Given the description of an element on the screen output the (x, y) to click on. 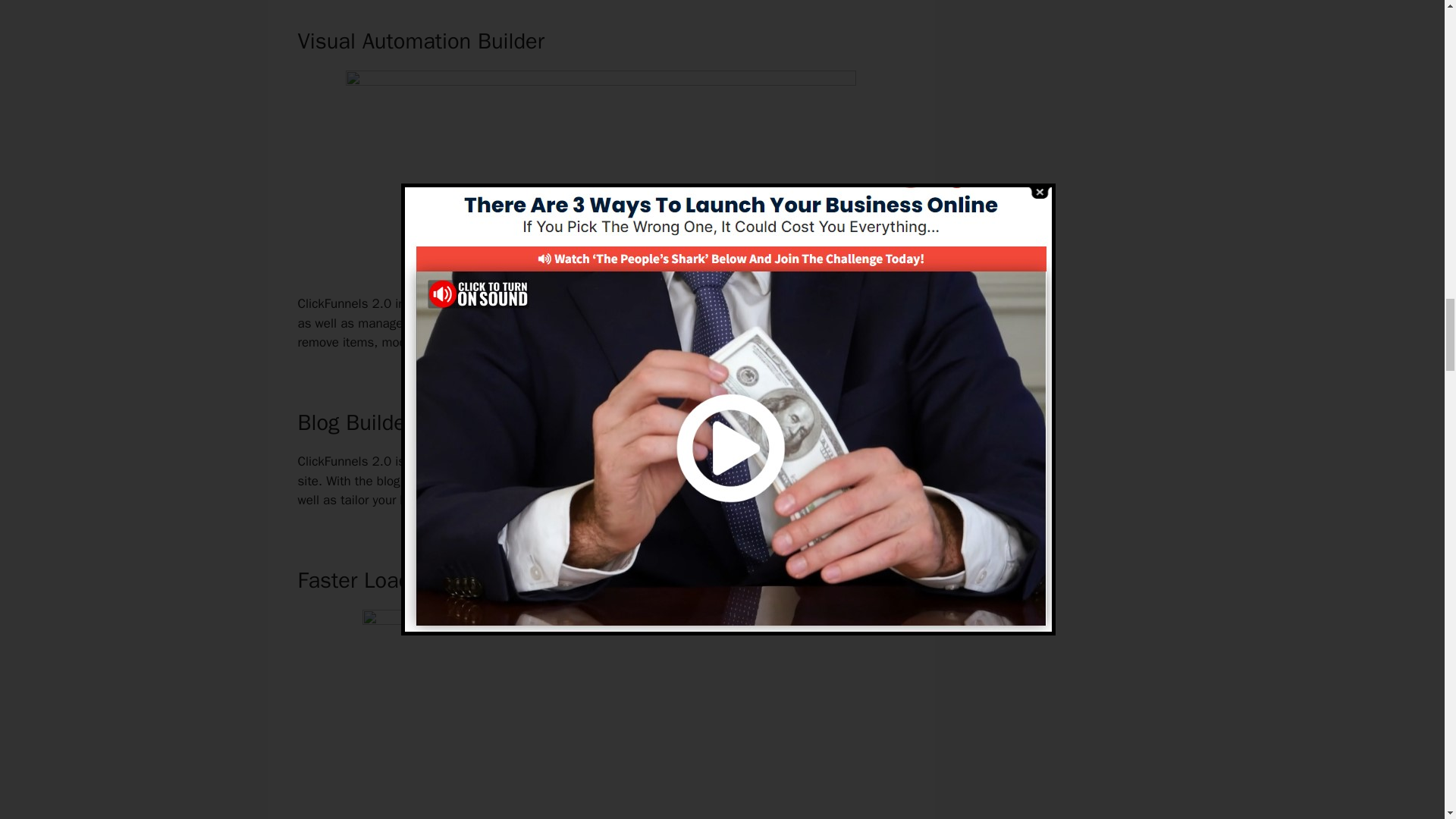
Start Here For Free Today (601, 251)
